Given the description of an element on the screen output the (x, y) to click on. 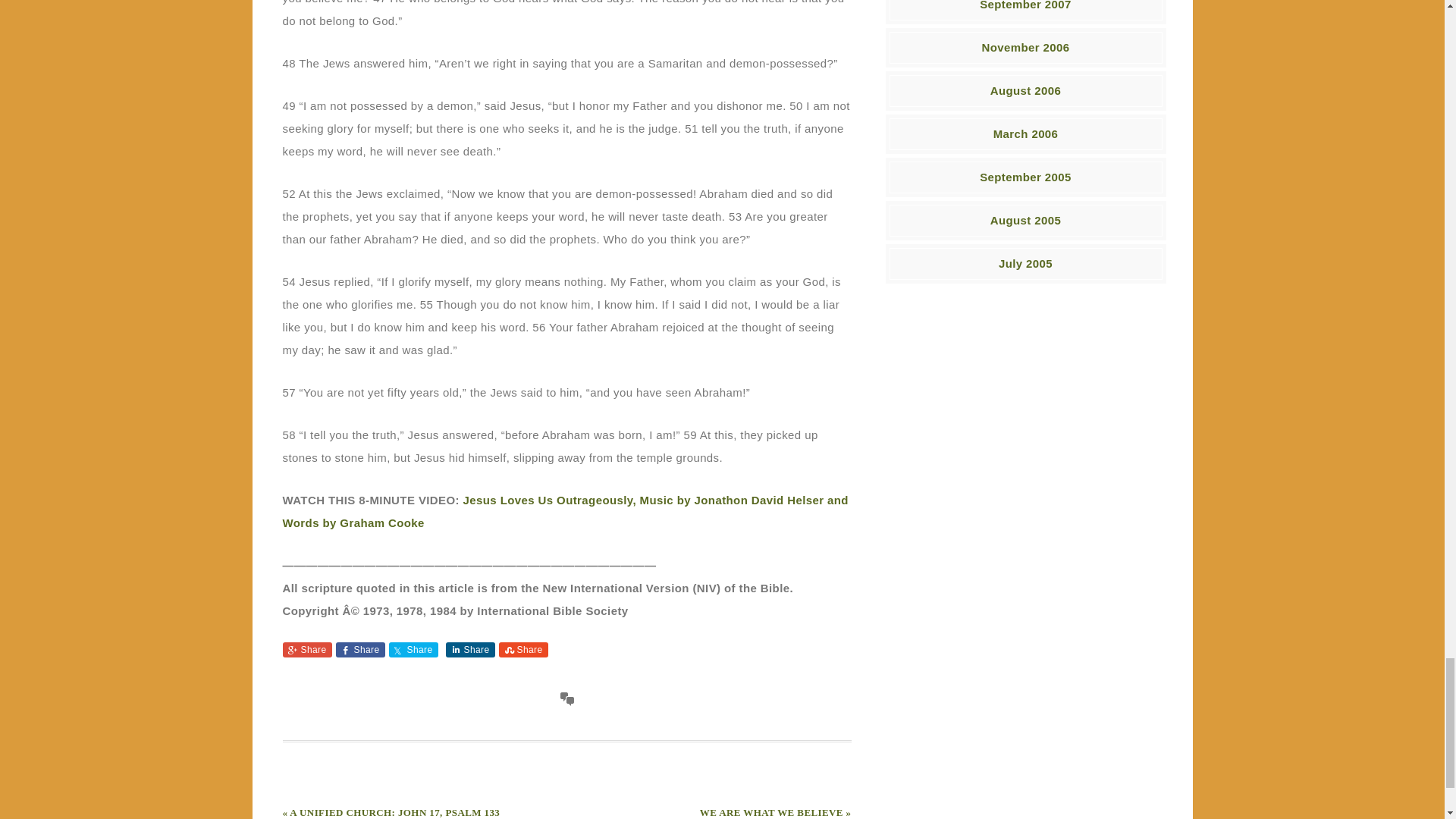
Share (359, 648)
Share (523, 648)
Share (306, 648)
Share (470, 648)
Jesus Loves Us Outrageously (564, 510)
Share (413, 648)
